Given the description of an element on the screen output the (x, y) to click on. 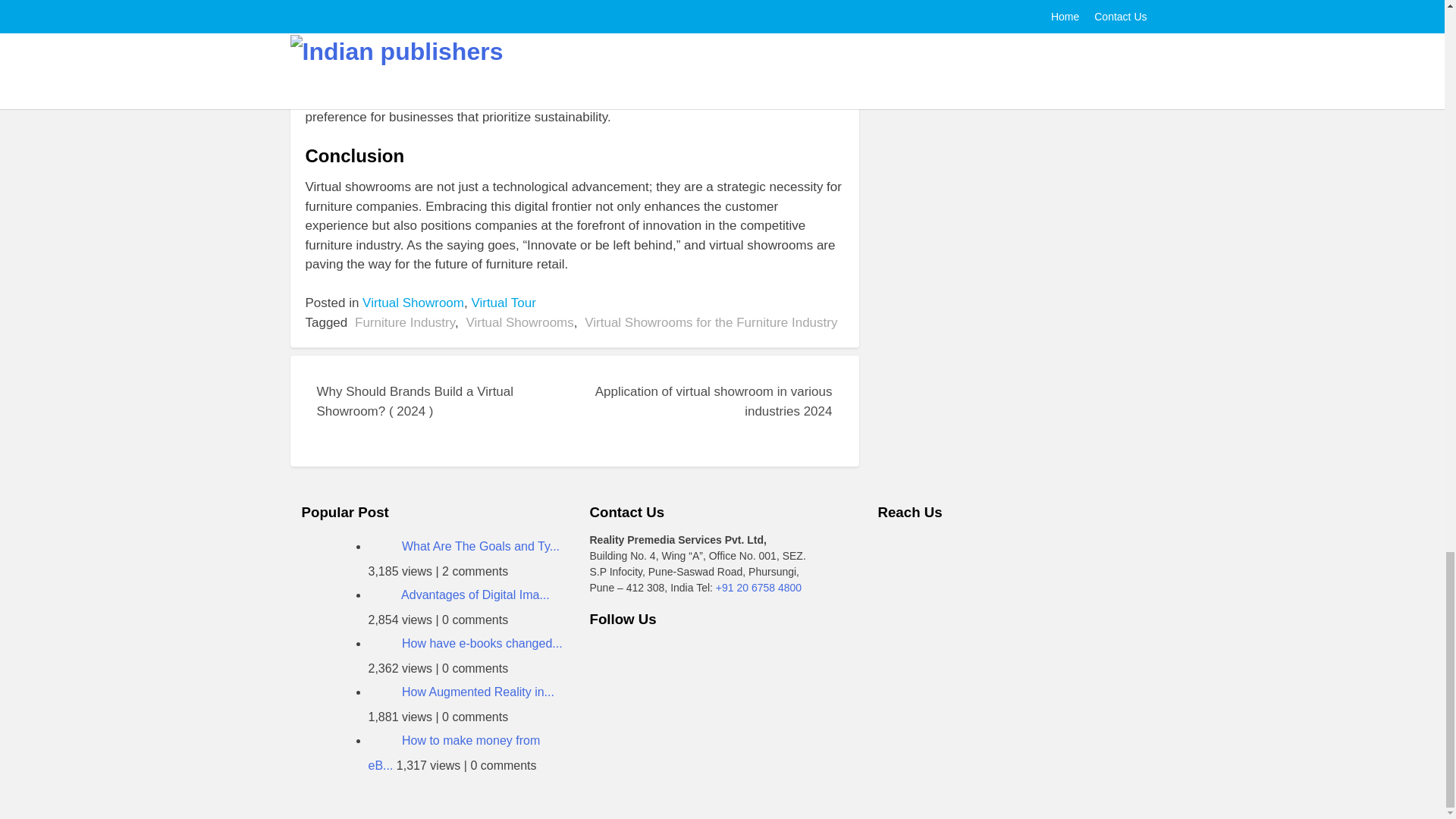
Furniture Industry (404, 322)
Application of virtual showroom in various industries 2024 (703, 410)
How have e-books changed... (481, 643)
What Are The Goals and Ty... (480, 545)
How have e-books changed the publishing industry. (383, 643)
Advantages of Digital Ima... (475, 594)
Advantages of Digital Image Processing (383, 594)
Virtual Showrooms (519, 322)
How to make money from eBook conversion? (454, 752)
How have e-books changed the publishing industry. (481, 643)
How to make money from eB... (454, 752)
What Are The Goals and Types Of Image Processing? (480, 545)
How Augmented Reality in... (477, 691)
